Given the description of an element on the screen output the (x, y) to click on. 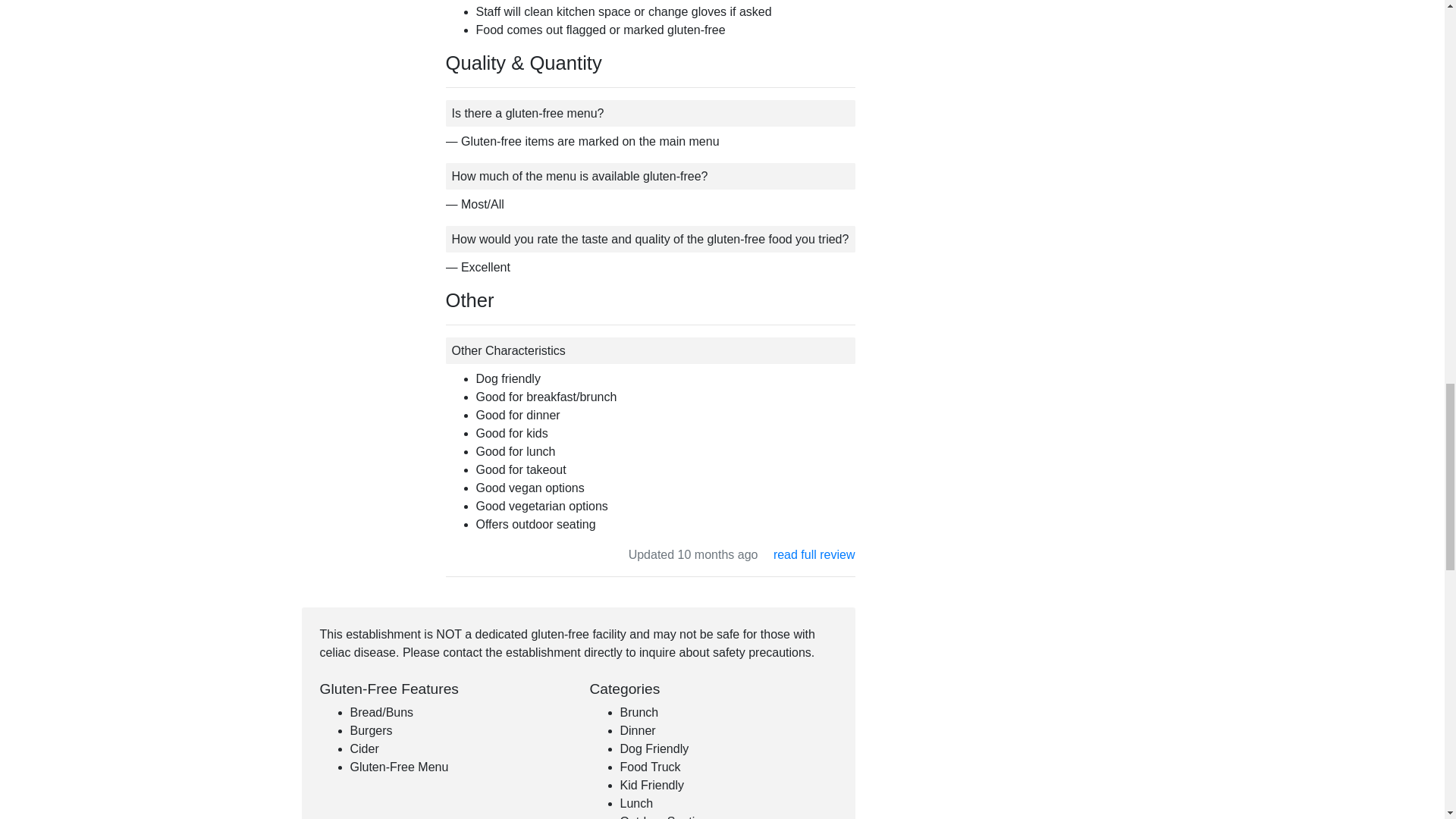
read full review (814, 554)
